Given the description of an element on the screen output the (x, y) to click on. 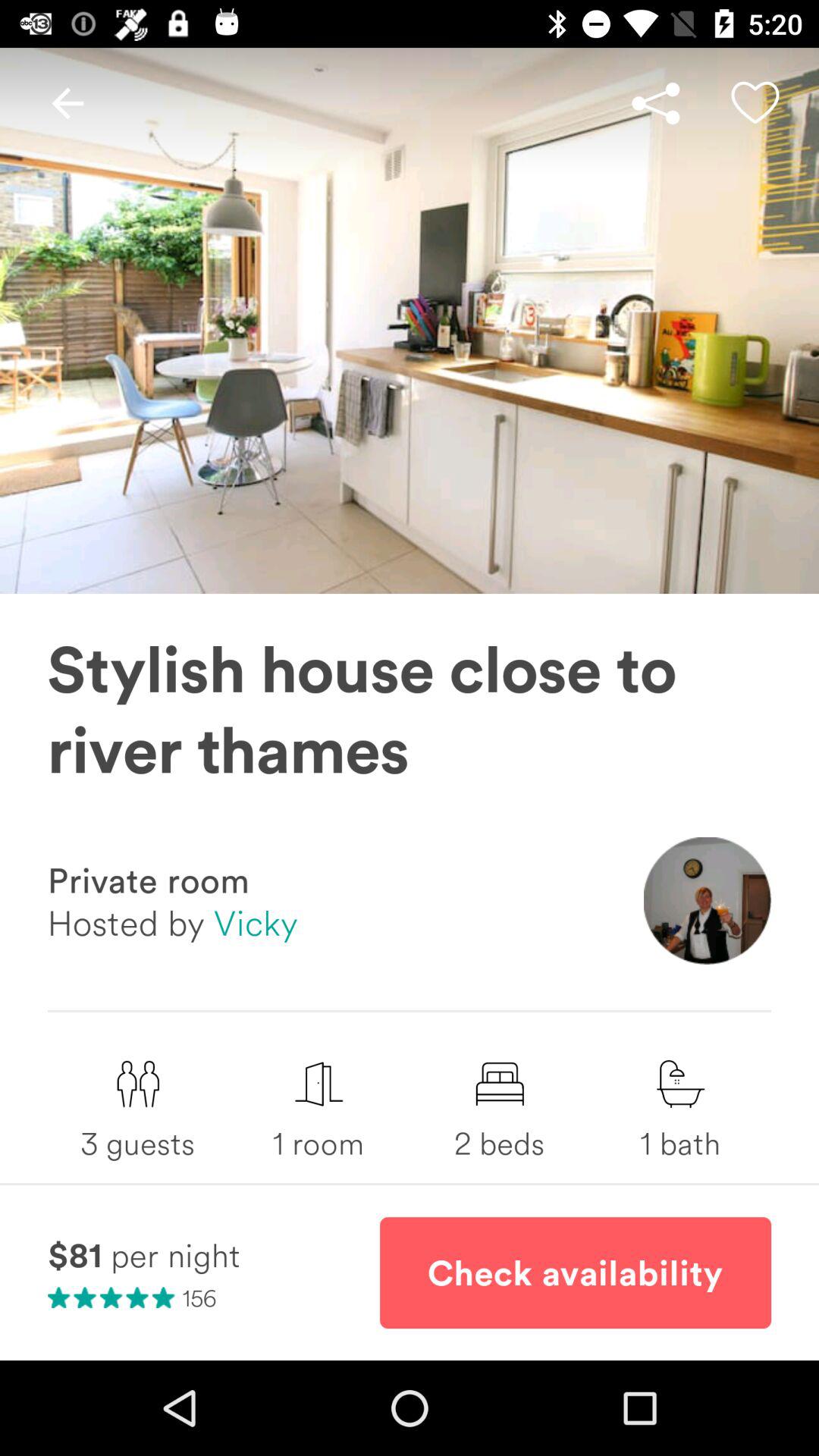
launch icon above stylish house close (655, 103)
